Given the description of an element on the screen output the (x, y) to click on. 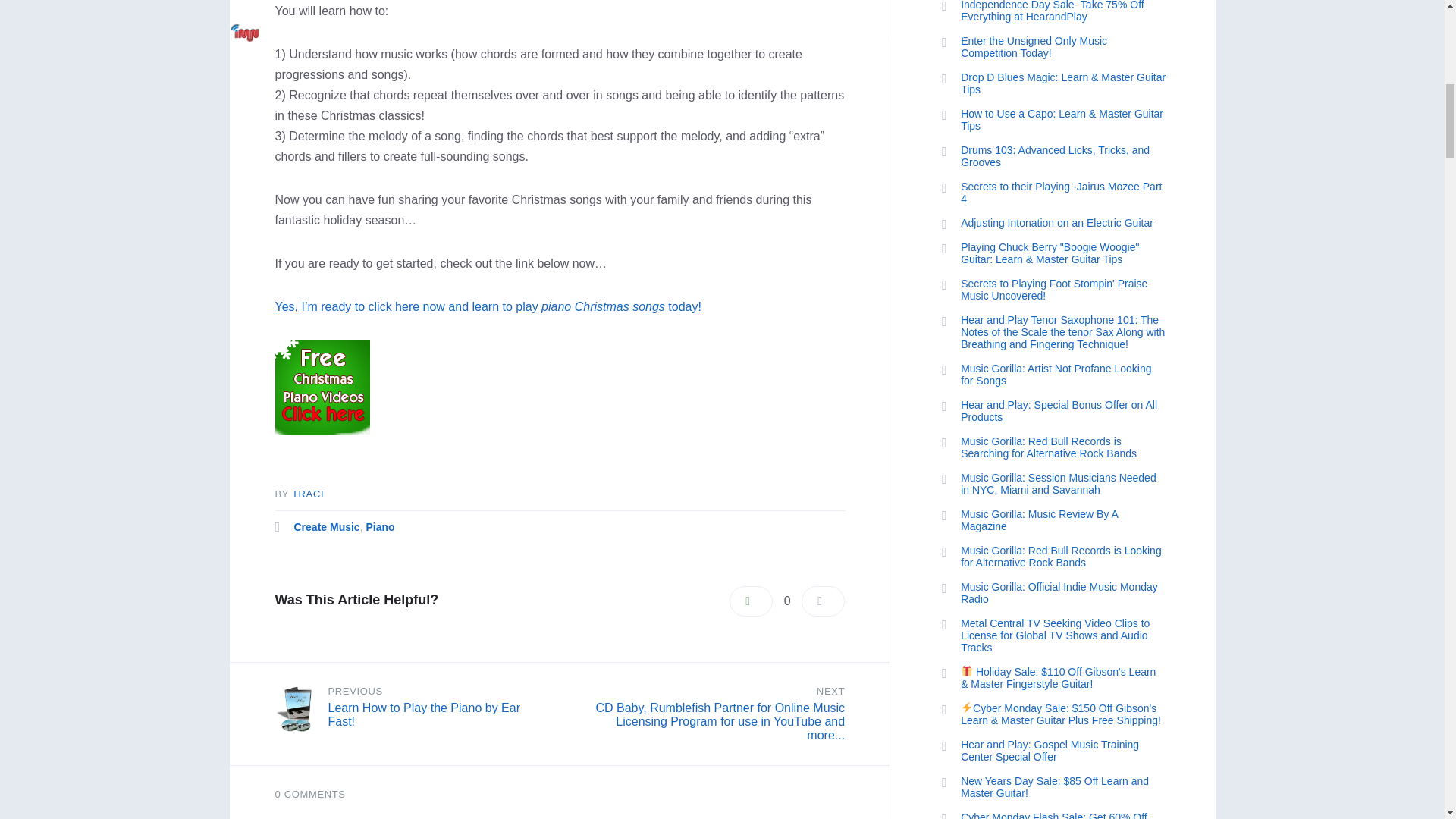
Create Music (326, 526)
Play Christmas Songs on the Piano (487, 306)
TRACI (307, 493)
Like (751, 601)
Dislike (823, 601)
